Given the description of an element on the screen output the (x, y) to click on. 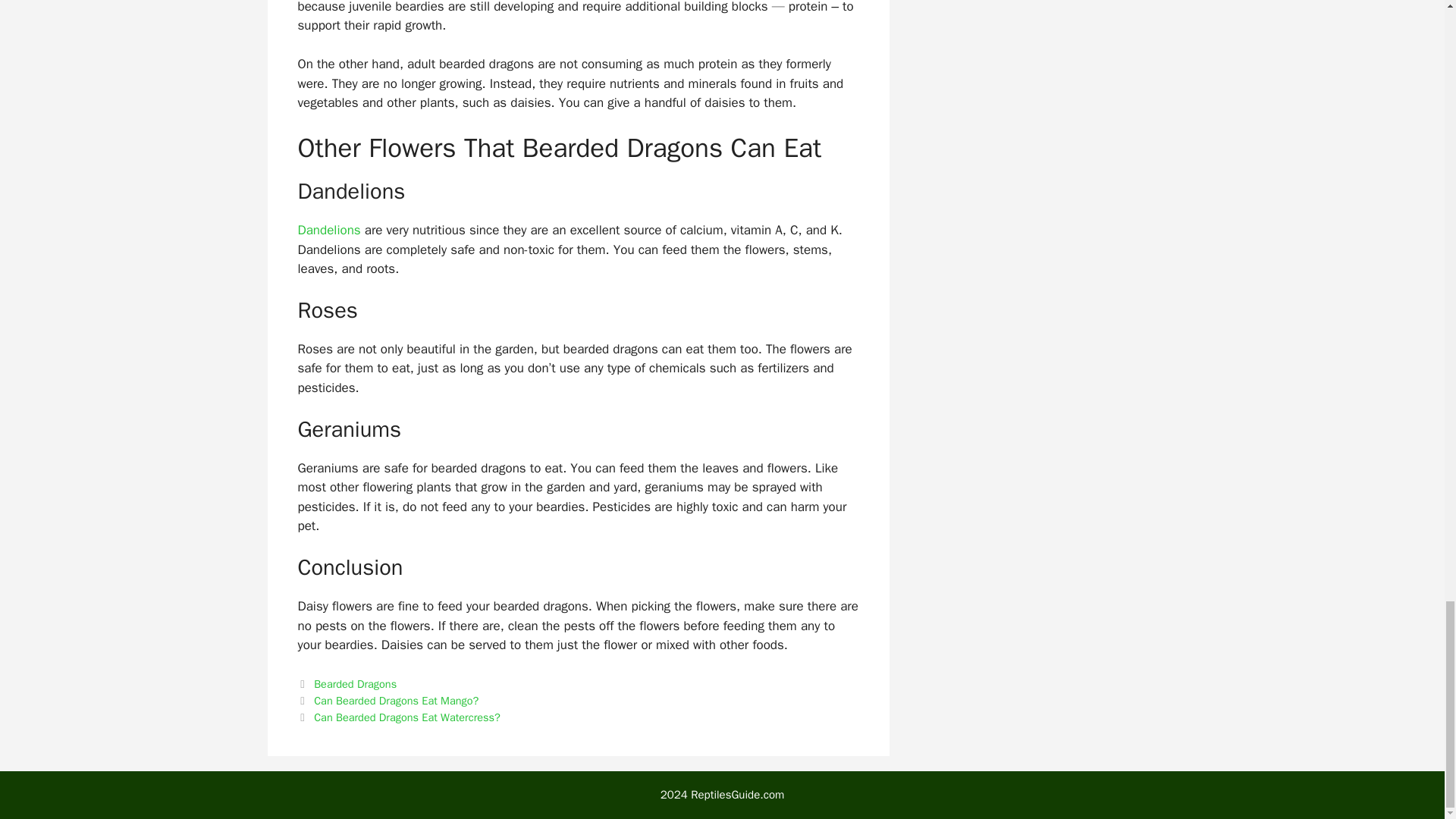
Can Bearded Dragons Eat Watercress? (407, 716)
Dandelions (328, 229)
Bearded Dragons (355, 684)
Can Bearded Dragons Eat Mango? (396, 700)
